Given the description of an element on the screen output the (x, y) to click on. 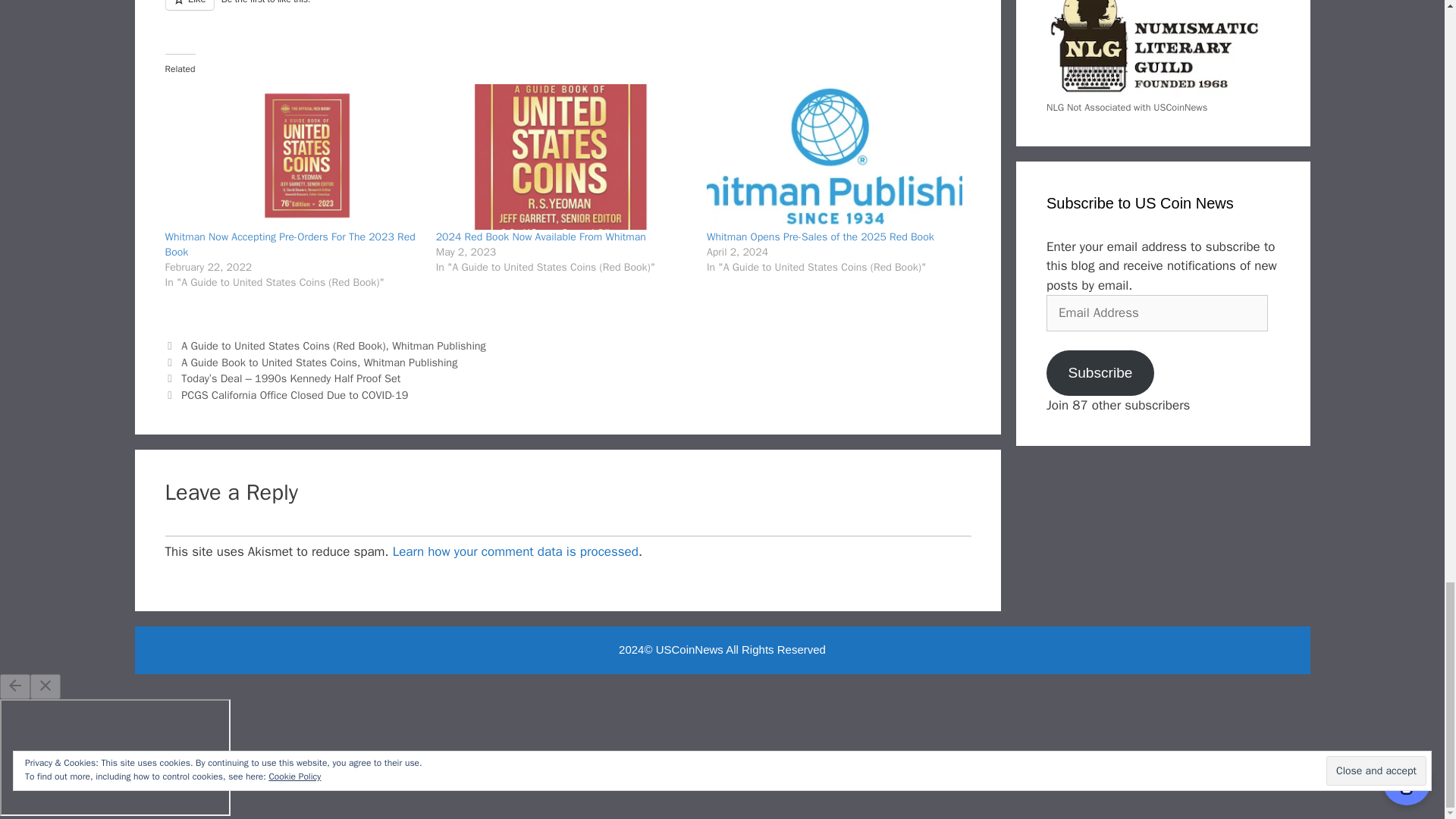
Whitman Publishing (411, 362)
Whitman Opens Pre-Sales of the 2025 Red Book (820, 236)
2024 Red Book Now Available From Whitman (540, 236)
2024 Red Book Now Available From Whitman (540, 236)
Learn how your comment data is processed (516, 551)
Whitman Opens Pre-Sales of the 2025 Red Book (820, 236)
2024 Red Book Now Available From Whitman (563, 157)
Whitman Publishing (438, 345)
A Guide Book to United States Coins (268, 362)
Like or Reblog (568, 13)
Whitman Now Accepting Pre-Orders For The 2023 Red Book (289, 244)
Whitman Now Accepting Pre-Orders For The 2023 Red Book (289, 244)
Whitman Opens Pre-Sales of the 2025 Red Book (834, 157)
Whitman Now Accepting Pre-Orders For The 2023 Red Book (292, 157)
